Given the description of an element on the screen output the (x, y) to click on. 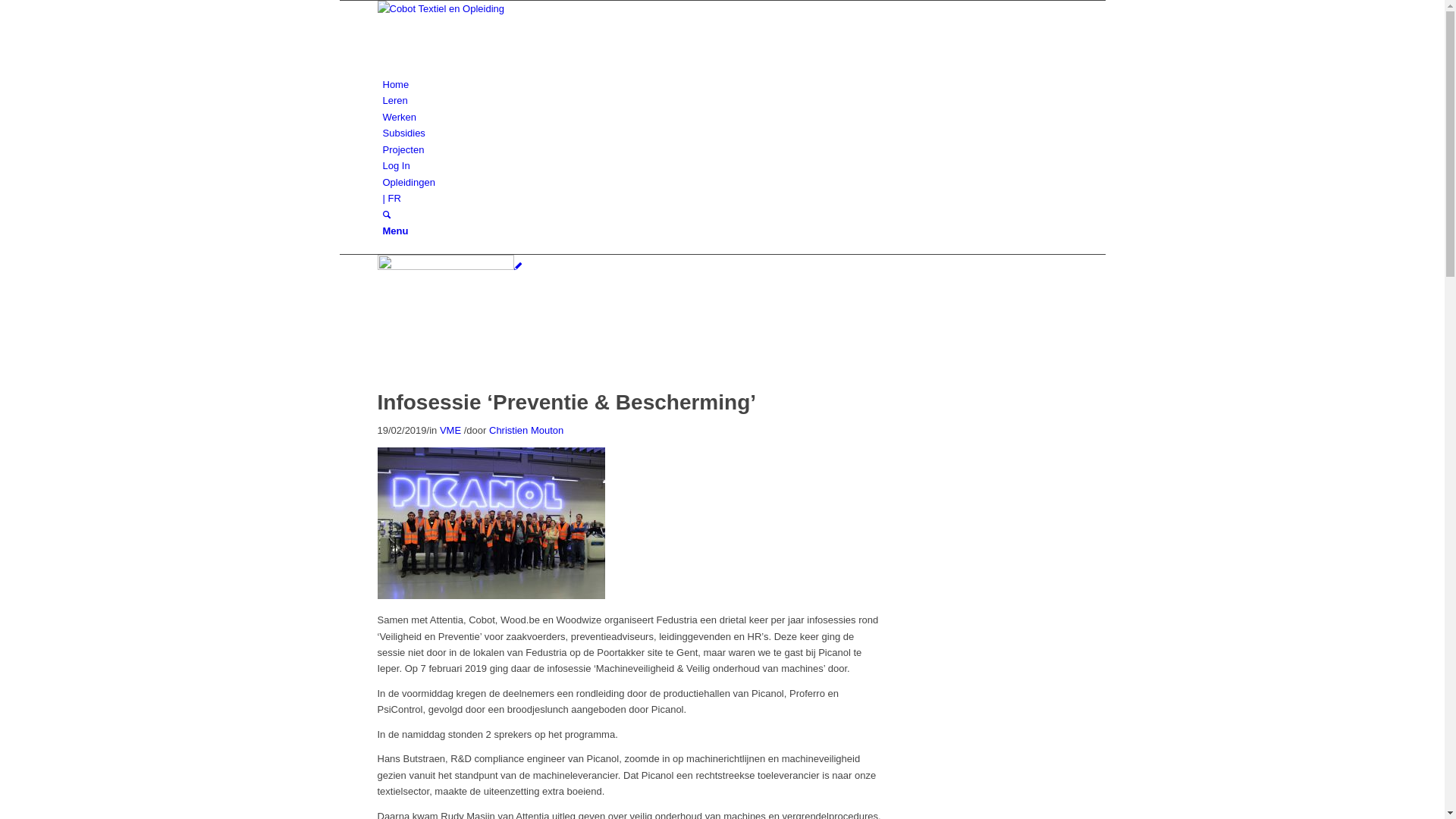
Log In Element type: text (395, 165)
Picanol 07 02 19 Element type: hover (449, 266)
Opleidingen Element type: text (408, 182)
VME Element type: text (450, 430)
| FR Element type: text (391, 197)
Leren Element type: text (394, 100)
Projecten Element type: text (402, 149)
Christien Mouton Element type: text (526, 430)
Home Element type: text (395, 84)
Werken Element type: text (399, 116)
Subsidies Element type: text (403, 132)
Menu Element type: text (394, 230)
